Given the description of an element on the screen output the (x, y) to click on. 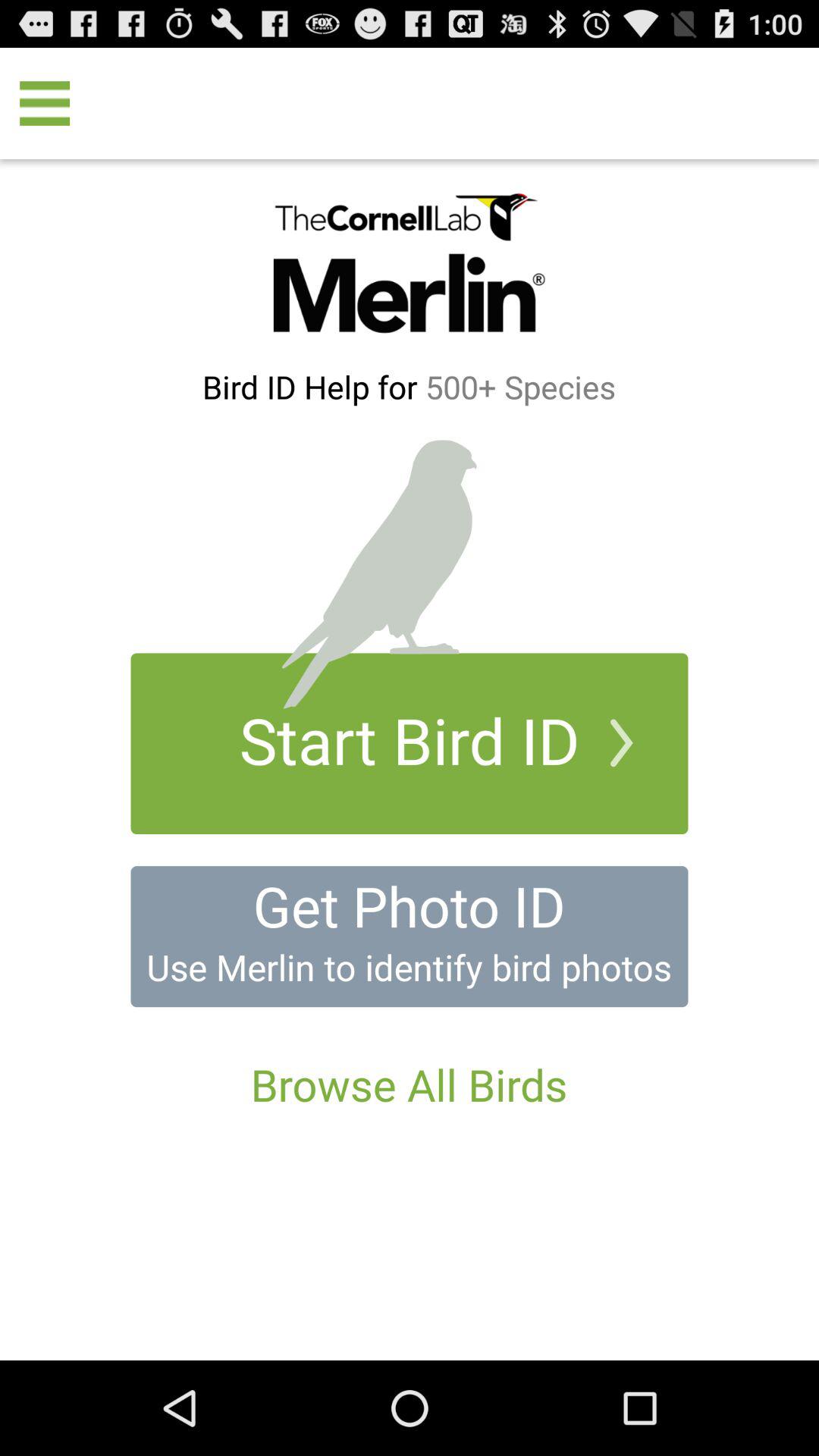
press icon above the browse all birds icon (408, 966)
